Given the description of an element on the screen output the (x, y) to click on. 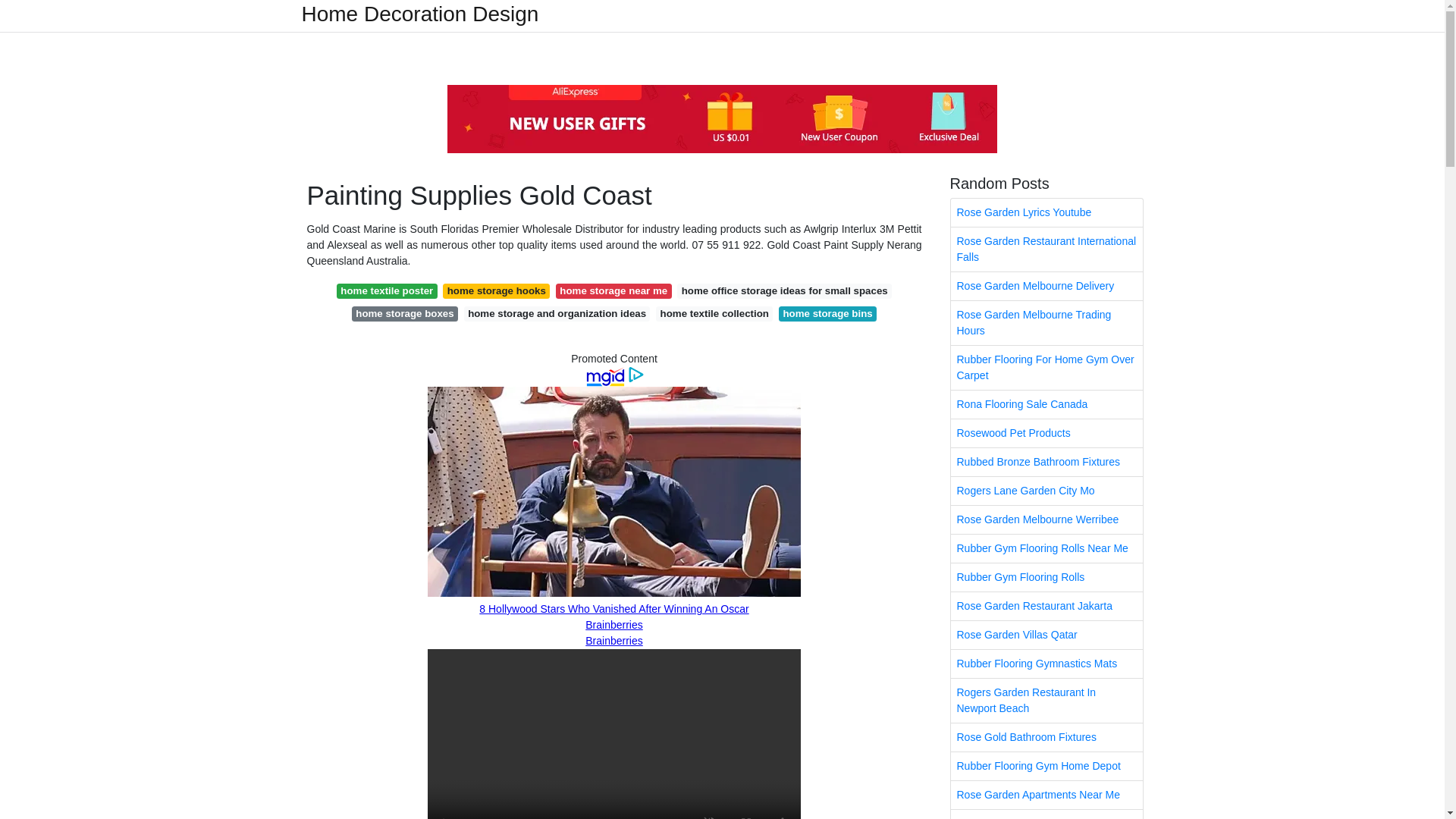
home storage bins (827, 313)
home storage hooks (496, 290)
home storage near me (613, 290)
Home Decoration Design (419, 13)
Rubber Flooring For Home Gym Over Carpet (1046, 367)
Rose Garden Melbourne Delivery (1046, 285)
Rose Garden Lyrics Youtube (1046, 212)
Rubbed Bronze Bathroom Fixtures (1046, 461)
Rose Garden Restaurant International Falls (1046, 249)
home office storage ideas for small spaces (784, 290)
Rosewood Pet Products (1046, 433)
home textile poster (387, 290)
Home Decoration Design (419, 13)
home storage boxes (405, 313)
home textile collection (714, 313)
